Given the description of an element on the screen output the (x, y) to click on. 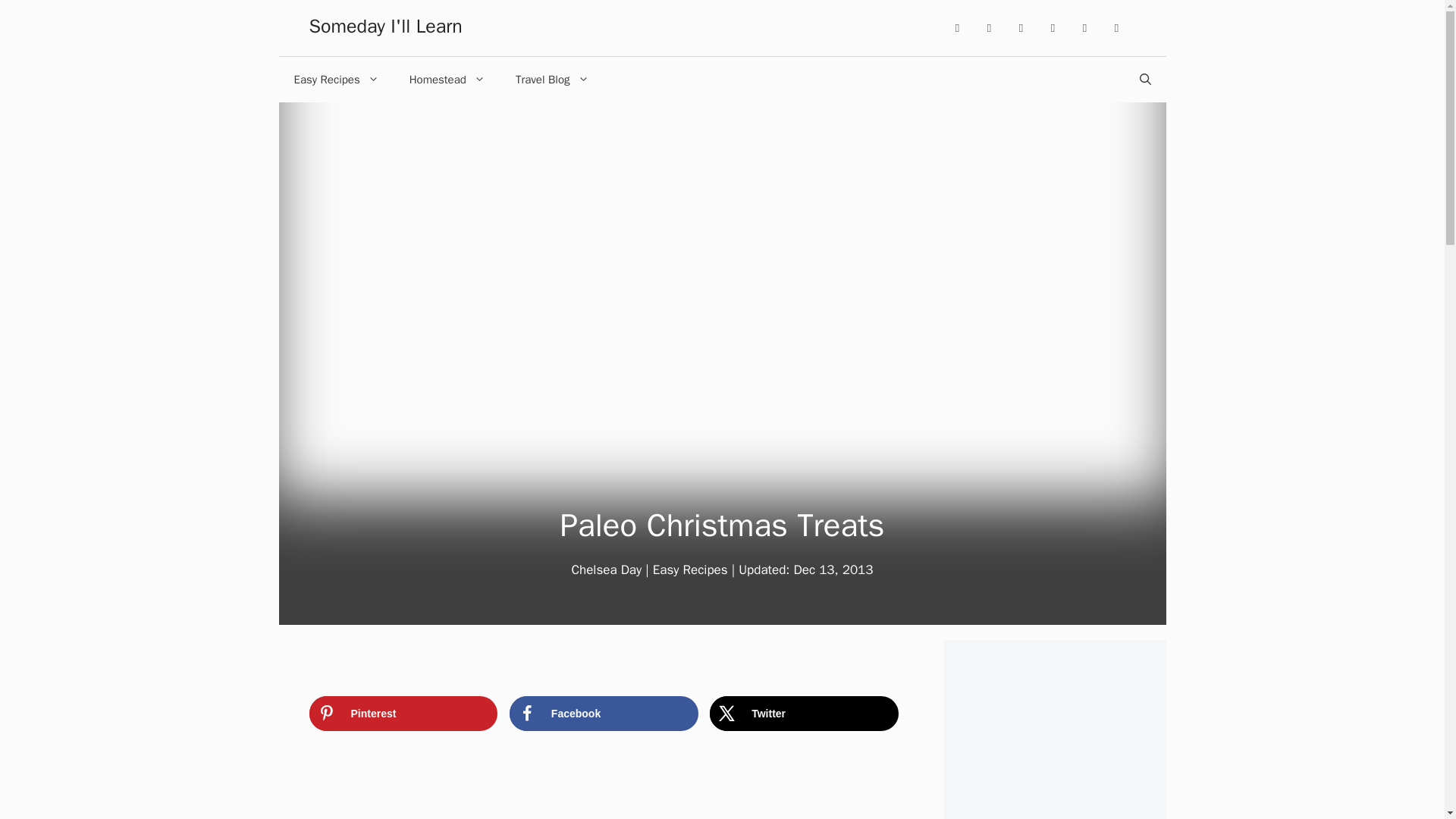
Twitter (1053, 27)
Instagram (957, 27)
Easy Recipes (690, 569)
Pinterest (402, 713)
Twitter (804, 713)
Chelsea Day (606, 569)
View all posts by Chelsea Day (606, 569)
Facebook (1021, 27)
RSS (1116, 27)
Homestead (447, 79)
